Given the description of an element on the screen output the (x, y) to click on. 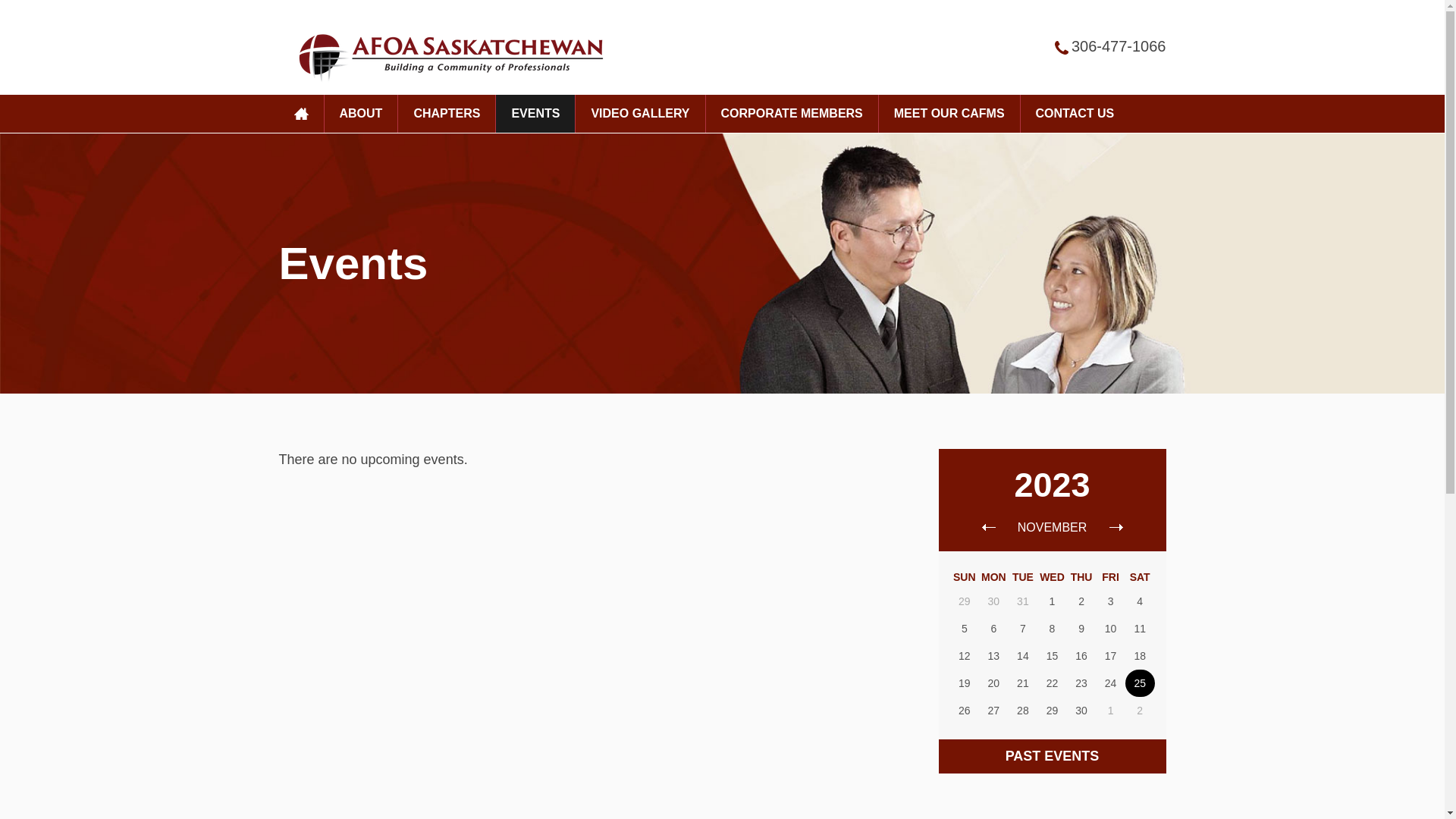
EVENTS Element type: text (534, 113)
CONTACT US Element type: text (1074, 113)
AFOA Element type: hover (447, 54)
MEET OUR CAFMS Element type: text (948, 113)
PAST EVENTS Element type: text (1052, 756)
CORPORATE MEMBERS Element type: text (792, 113)
ABOUT Element type: text (361, 113)
CHAPTERS Element type: text (446, 113)
VIDEO GALLERY Element type: text (639, 113)
